Given the description of an element on the screen output the (x, y) to click on. 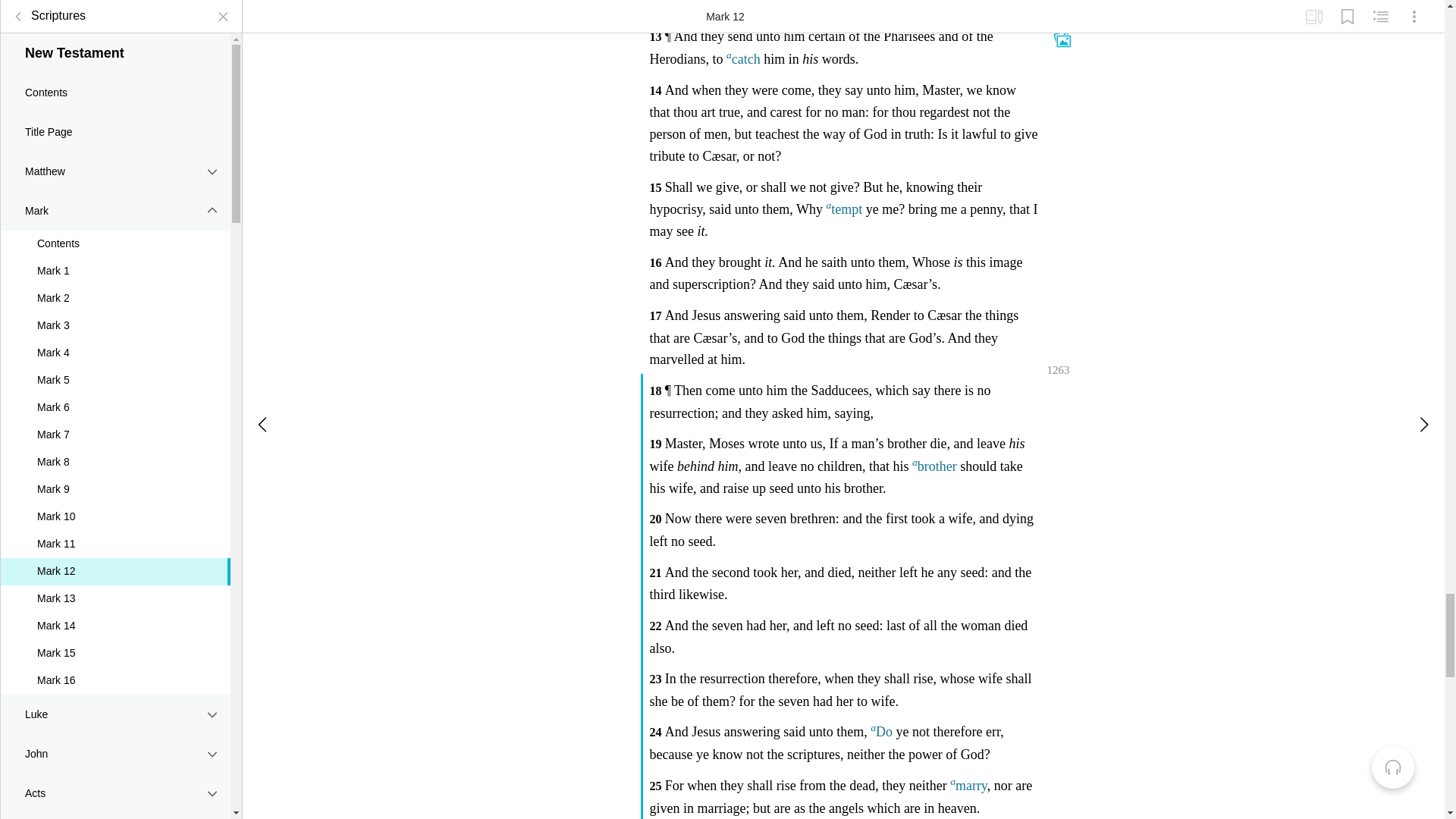
1 Corinthians (115, 41)
2 Corinthians (115, 80)
Romans (115, 11)
Philemon (115, 475)
2 Timothy (115, 396)
Ephesians (115, 159)
Galatians (115, 120)
1 Thessalonians (115, 278)
Associated Content (1061, 36)
2 Thessalonians (115, 317)
1 Timothy (115, 356)
Philippians (115, 199)
Colossians (115, 238)
Titus (115, 435)
Hebrews (115, 514)
